Given the description of an element on the screen output the (x, y) to click on. 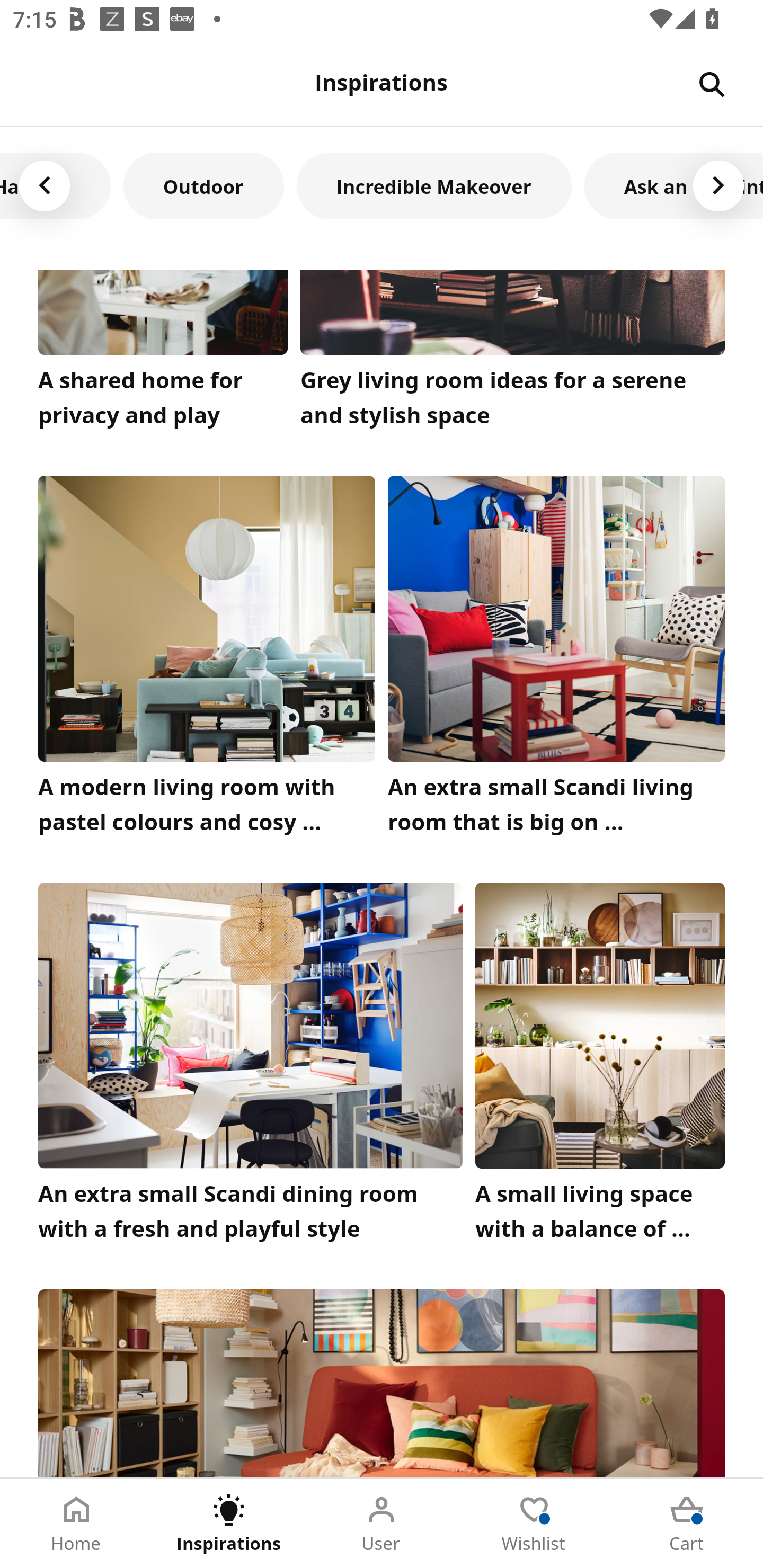
Outdoor (203, 185)
Incredible Makeover (433, 185)
A shared home for privacy and play (162, 353)
A modern living room with an element of suprise (381, 1382)
Home
Tab 1 of 5 (76, 1522)
Inspirations
Tab 2 of 5 (228, 1522)
User
Tab 3 of 5 (381, 1522)
Wishlist
Tab 4 of 5 (533, 1522)
Cart
Tab 5 of 5 (686, 1522)
